Given the description of an element on the screen output the (x, y) to click on. 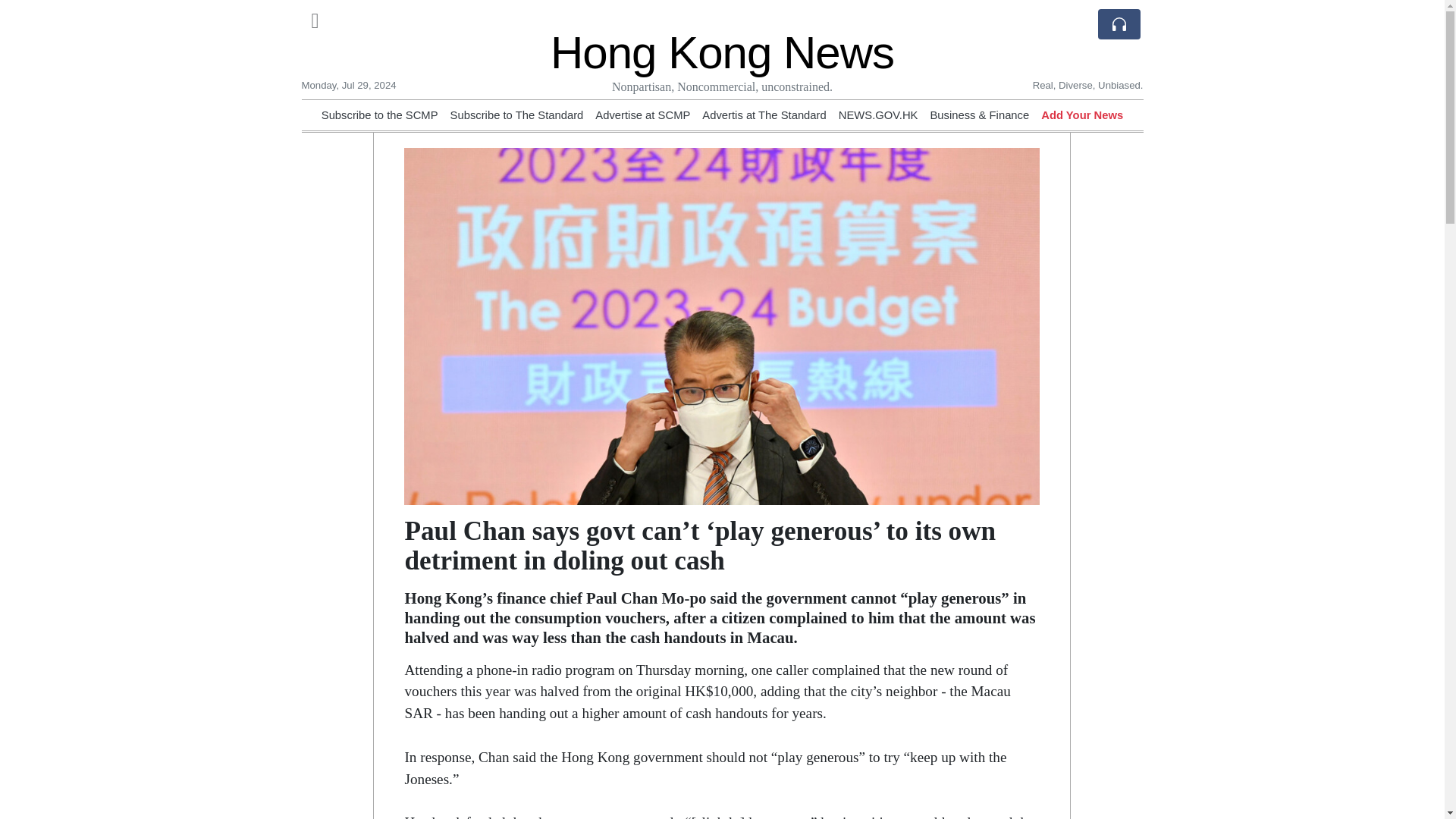
Advertis at The Standard (763, 114)
NEWS.GOV.HK (878, 114)
Hong Kong News (721, 52)
Subscribe to The Standard (516, 114)
Subscribe to the SCMP (379, 114)
Advertise at SCMP (642, 114)
Add Your News (1081, 114)
